Given the description of an element on the screen output the (x, y) to click on. 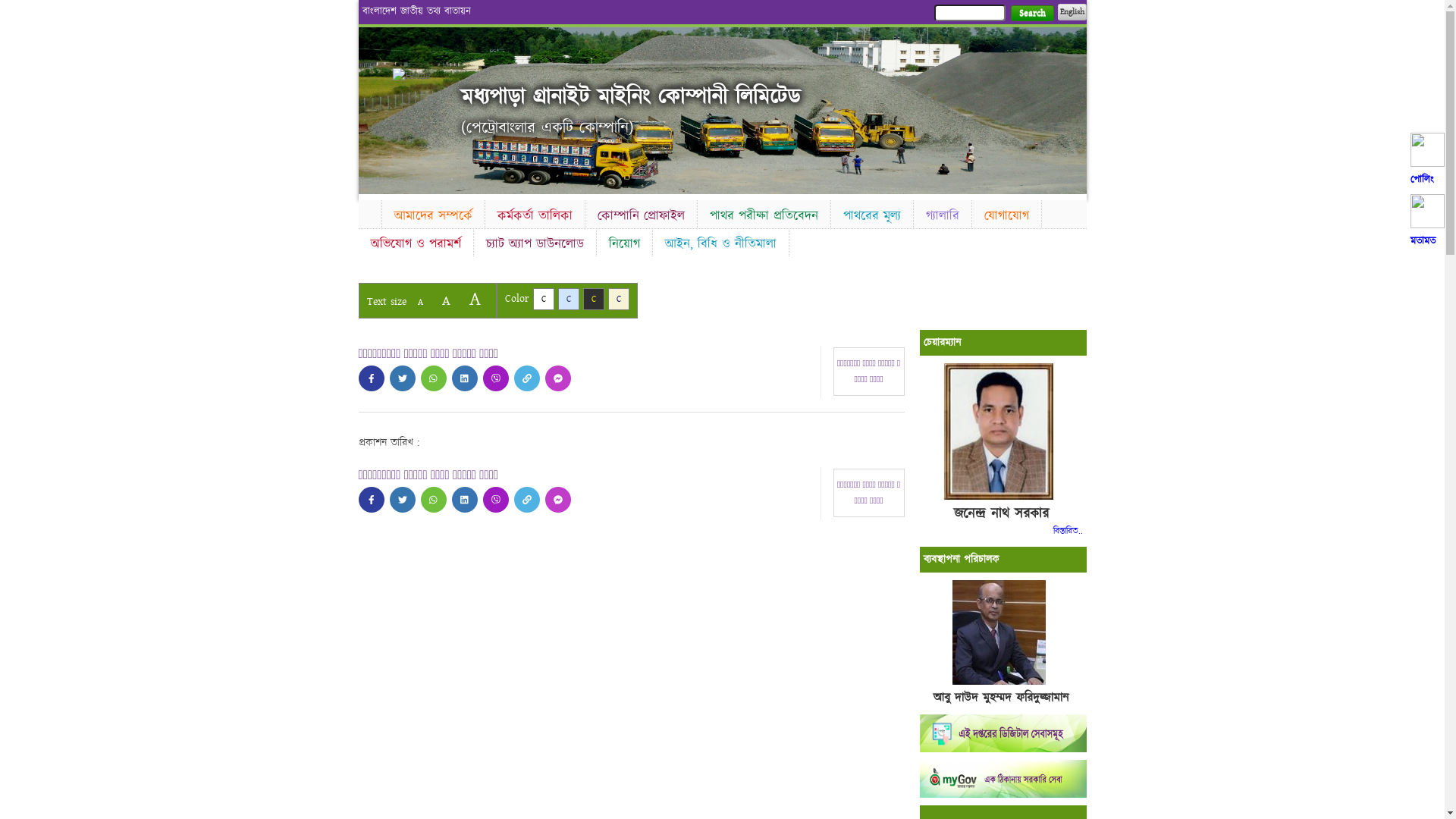
C Element type: text (592, 299)
C Element type: text (618, 299)
Home Element type: hover (368, 211)
A Element type: text (419, 301)
Home Element type: hover (418, 76)
C Element type: text (568, 299)
C Element type: text (542, 299)
English Element type: text (1071, 11)
A Element type: text (474, 298)
Search Element type: text (1031, 13)
A Element type: text (445, 300)
